Given the description of an element on the screen output the (x, y) to click on. 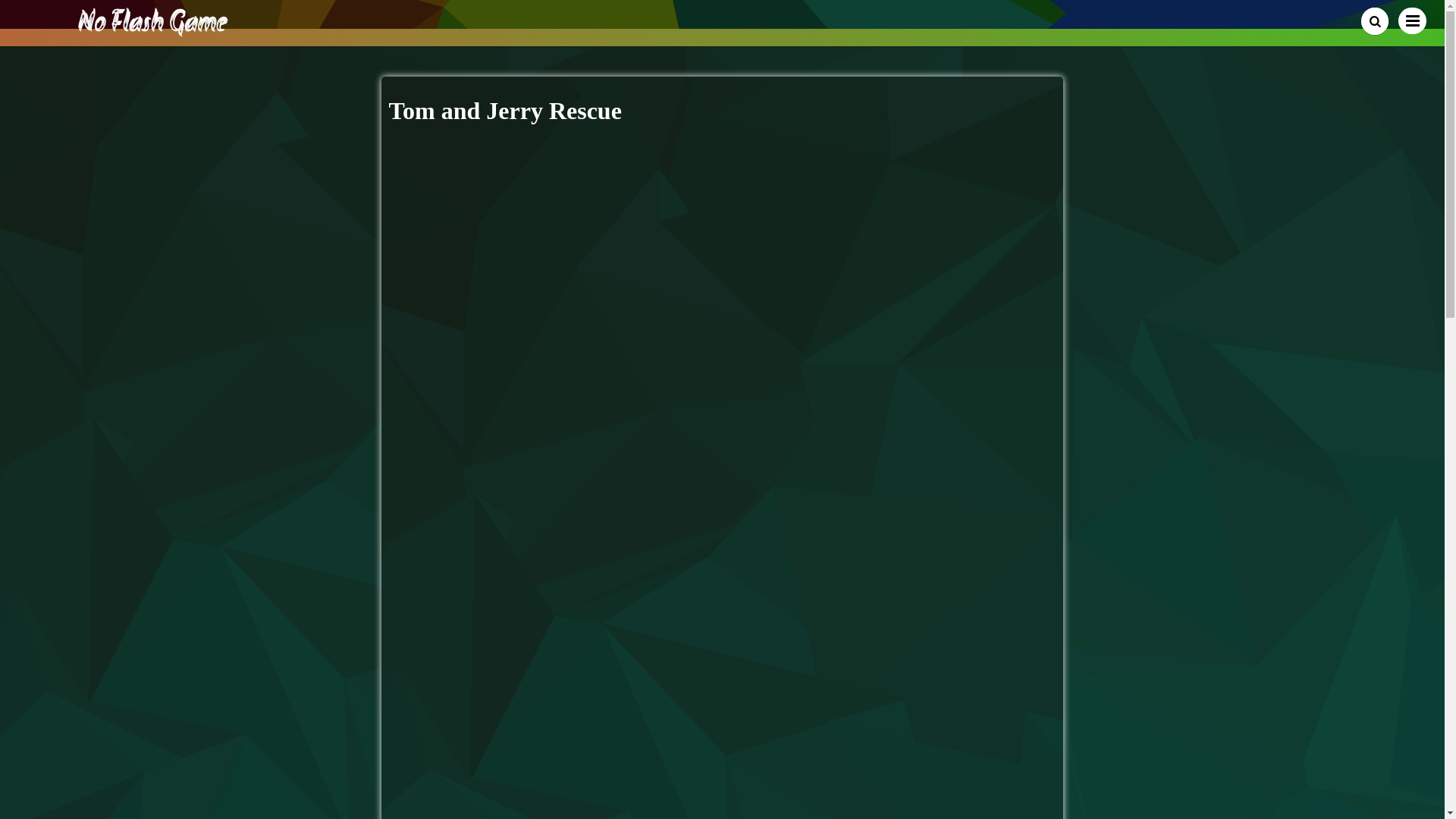
Search (1375, 21)
No Flash Game (153, 29)
